Given the description of an element on the screen output the (x, y) to click on. 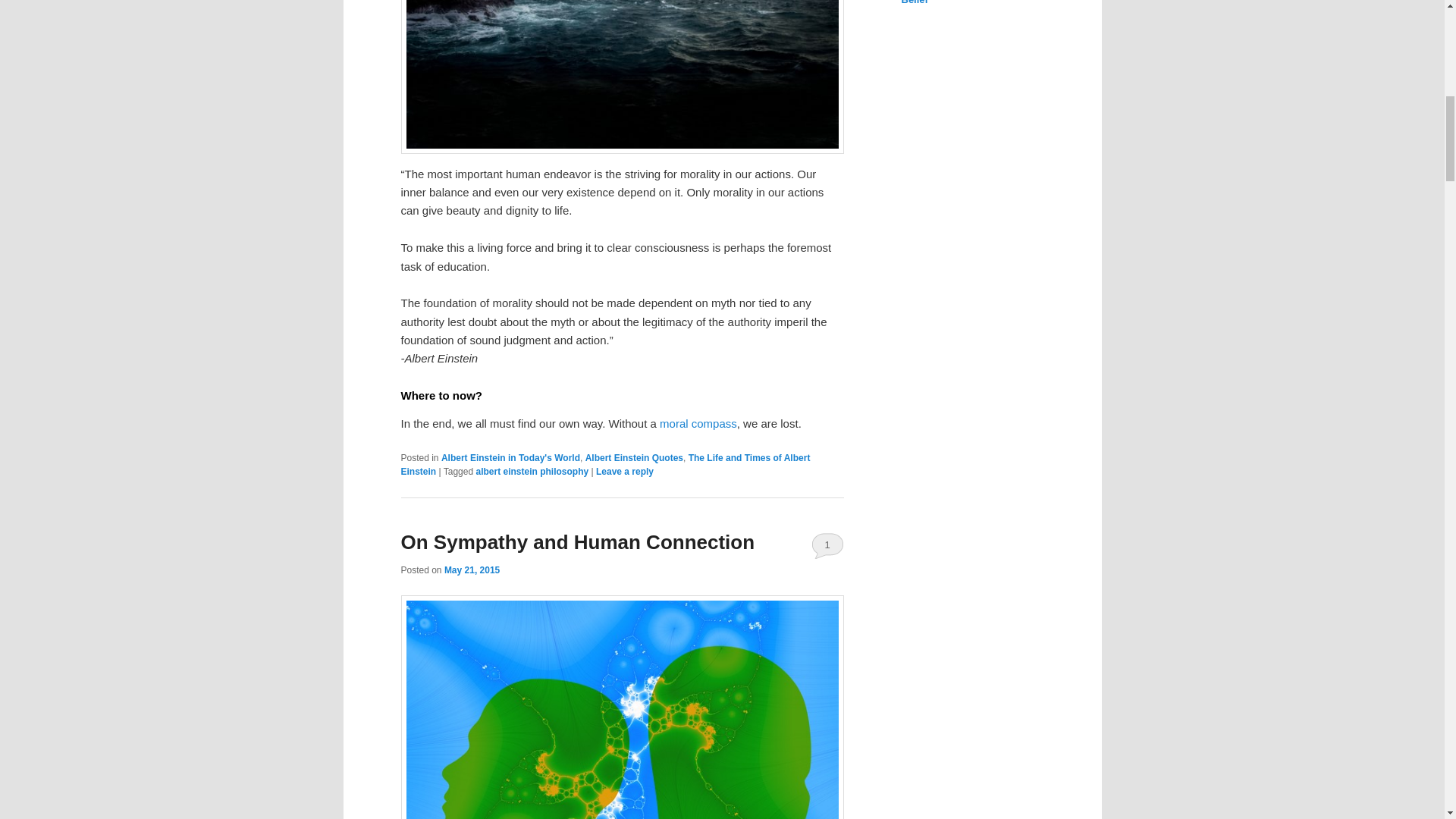
Albert Einstein Quotes (633, 457)
On Sympathy and Human Connection (577, 541)
Leave a reply (624, 471)
The Life and Times of Albert Einstein (604, 464)
6:53 pm (471, 570)
moral compass (697, 422)
1 (827, 544)
albert einstein philosophy (532, 471)
Albert Einstein in Today's World (510, 457)
May 21, 2015 (471, 570)
